Given the description of an element on the screen output the (x, y) to click on. 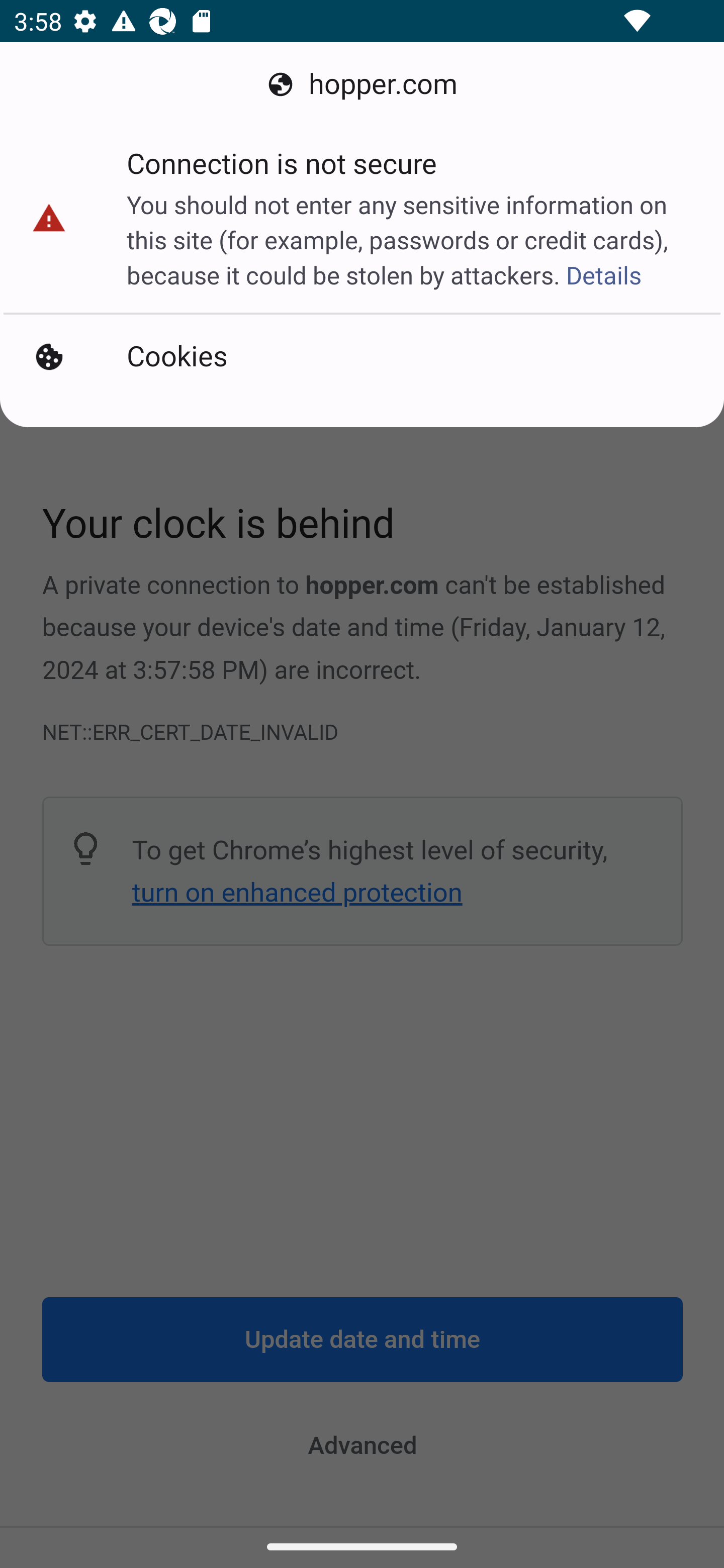
hopper.com (362, 84)
Cookies (362, 356)
